Given the description of an element on the screen output the (x, y) to click on. 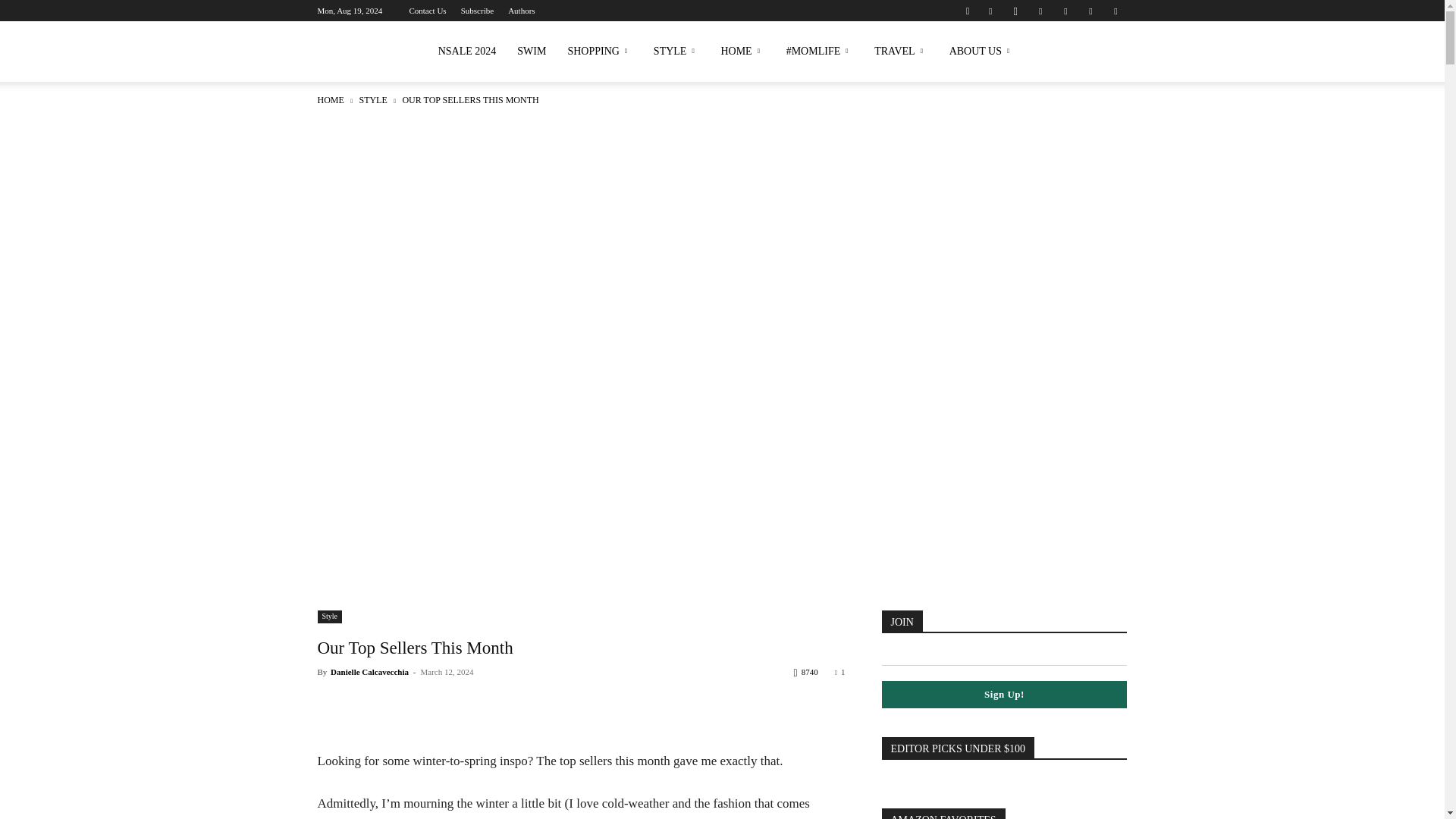
Pinterest (1040, 10)
Twitter (1090, 10)
Instagram (1015, 10)
Youtube (1114, 10)
TikTok (1065, 10)
View all posts in Style (372, 100)
Facebook (989, 10)
